Given the description of an element on the screen output the (x, y) to click on. 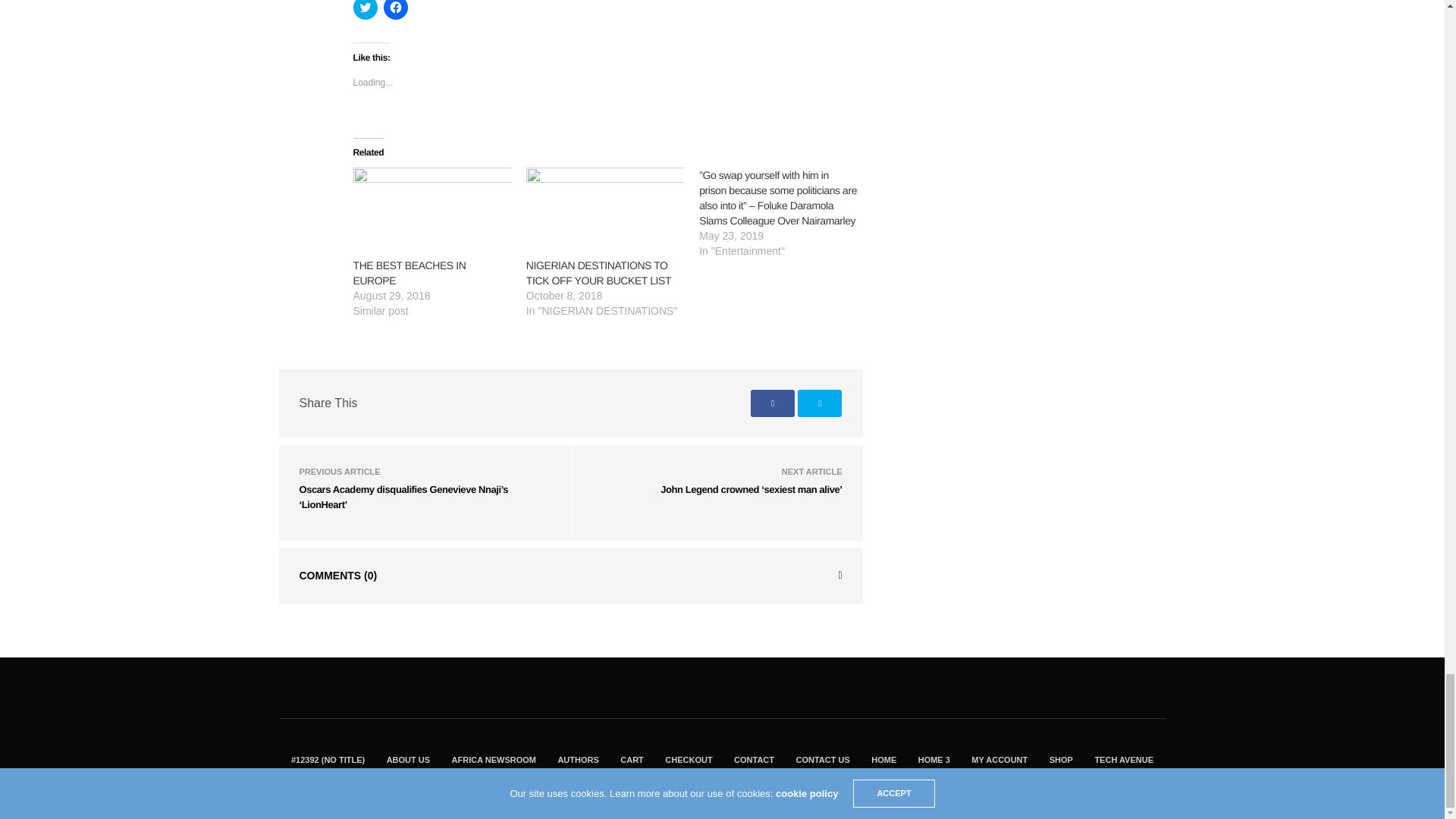
NIGERIAN DESTINATIONS TO TICK OFF YOUR BUCKET LIST (598, 272)
THE BEST BEACHES IN EUROPE (432, 212)
THE BEST BEACHES IN EUROPE (409, 272)
NIGERIAN DESTINATIONS TO TICK OFF YOUR BUCKET LIST (604, 212)
NIGERIAN DESTINATIONS TO TICK OFF YOUR BUCKET LIST (598, 272)
Click to share on Twitter (365, 9)
Click to share on Facebook (395, 9)
THE BEST BEACHES IN EUROPE (409, 272)
